Given the description of an element on the screen output the (x, y) to click on. 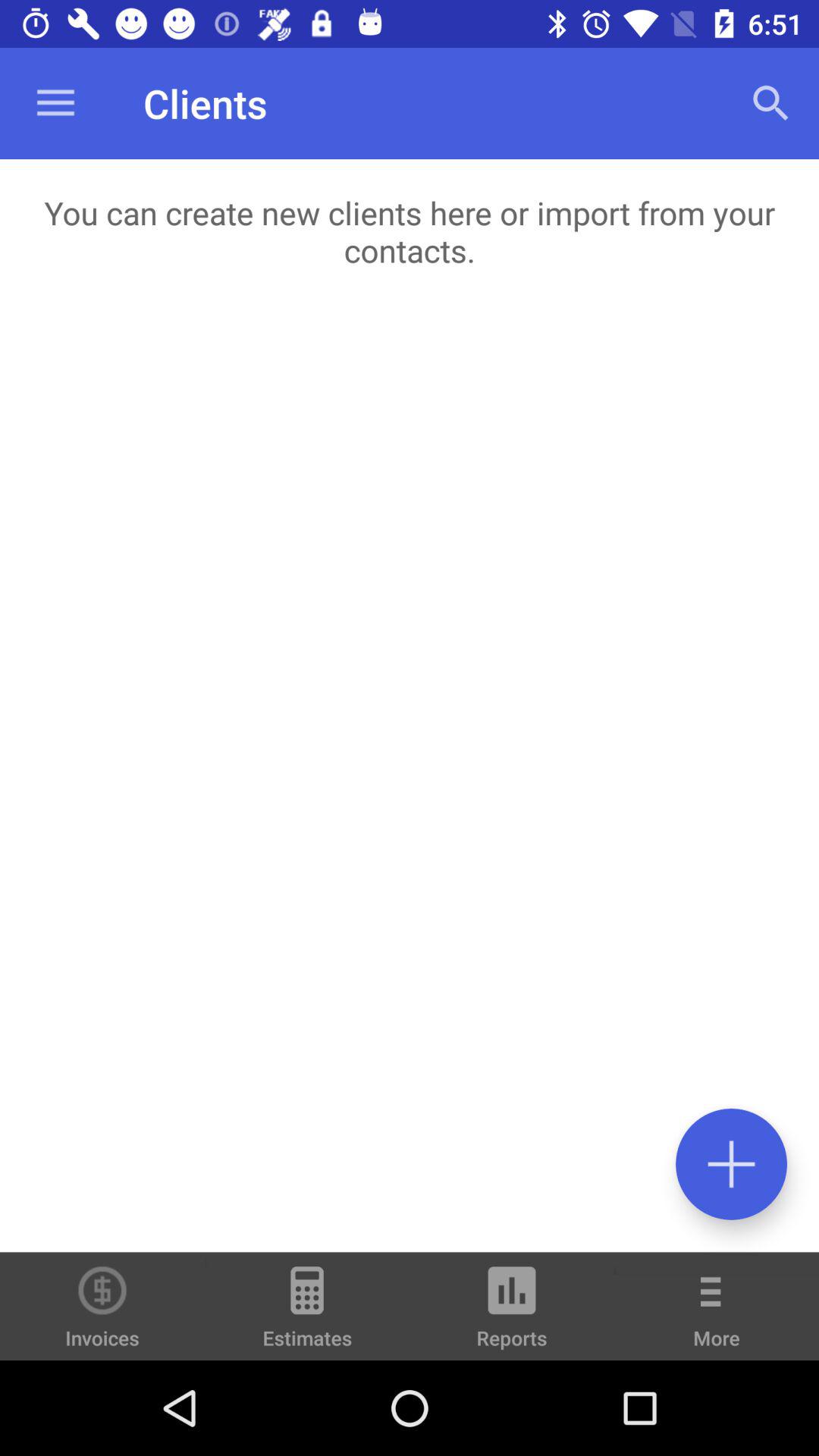
tap icon to the right of invoices icon (306, 1313)
